Given the description of an element on the screen output the (x, y) to click on. 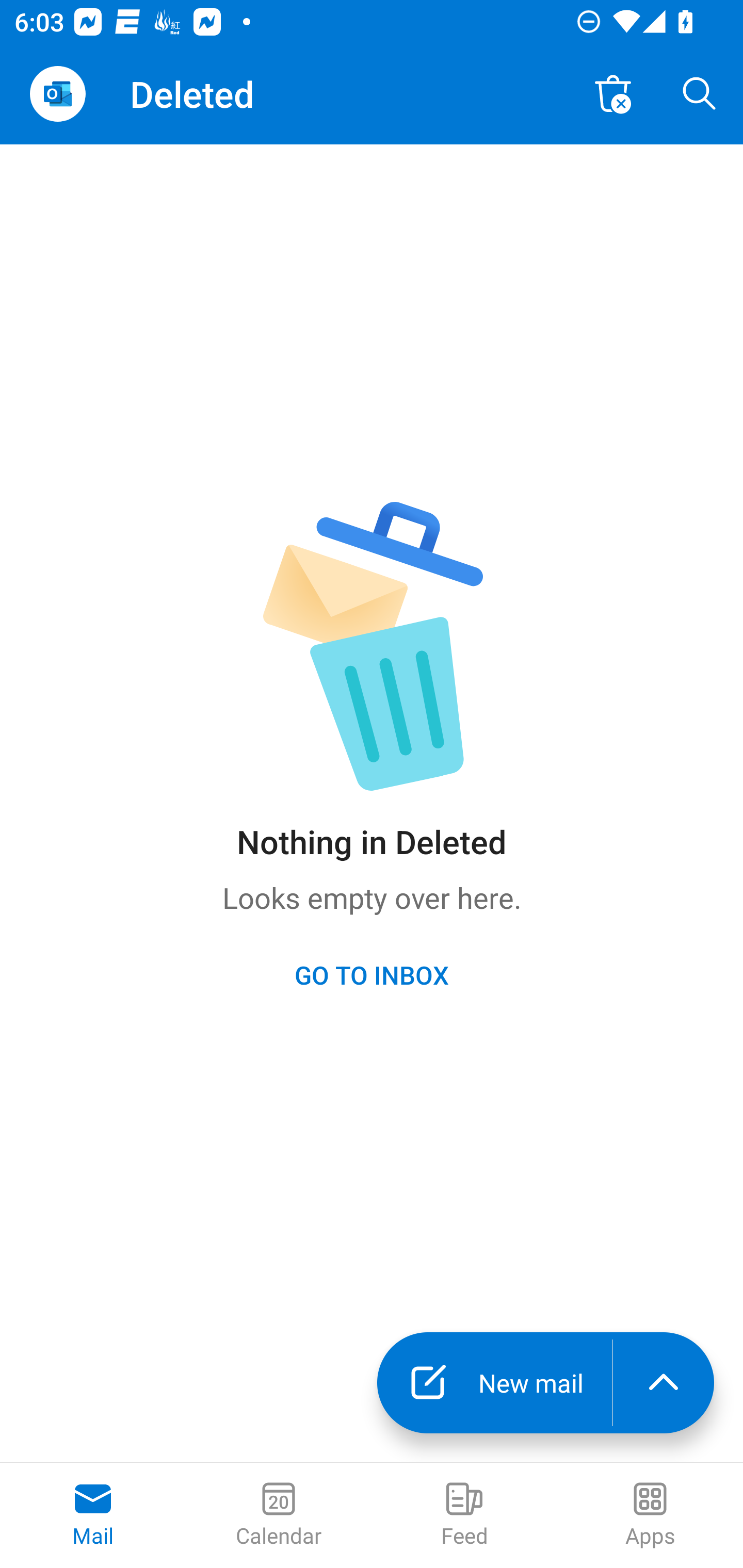
Empty Deleted (612, 93)
Search, ,  (699, 93)
Close Navigation Drawer (57, 94)
GO TO INBOX (371, 974)
New mail (494, 1382)
launch the extended action menu (663, 1382)
Calendar (278, 1515)
Feed (464, 1515)
Apps (650, 1515)
